Given the description of an element on the screen output the (x, y) to click on. 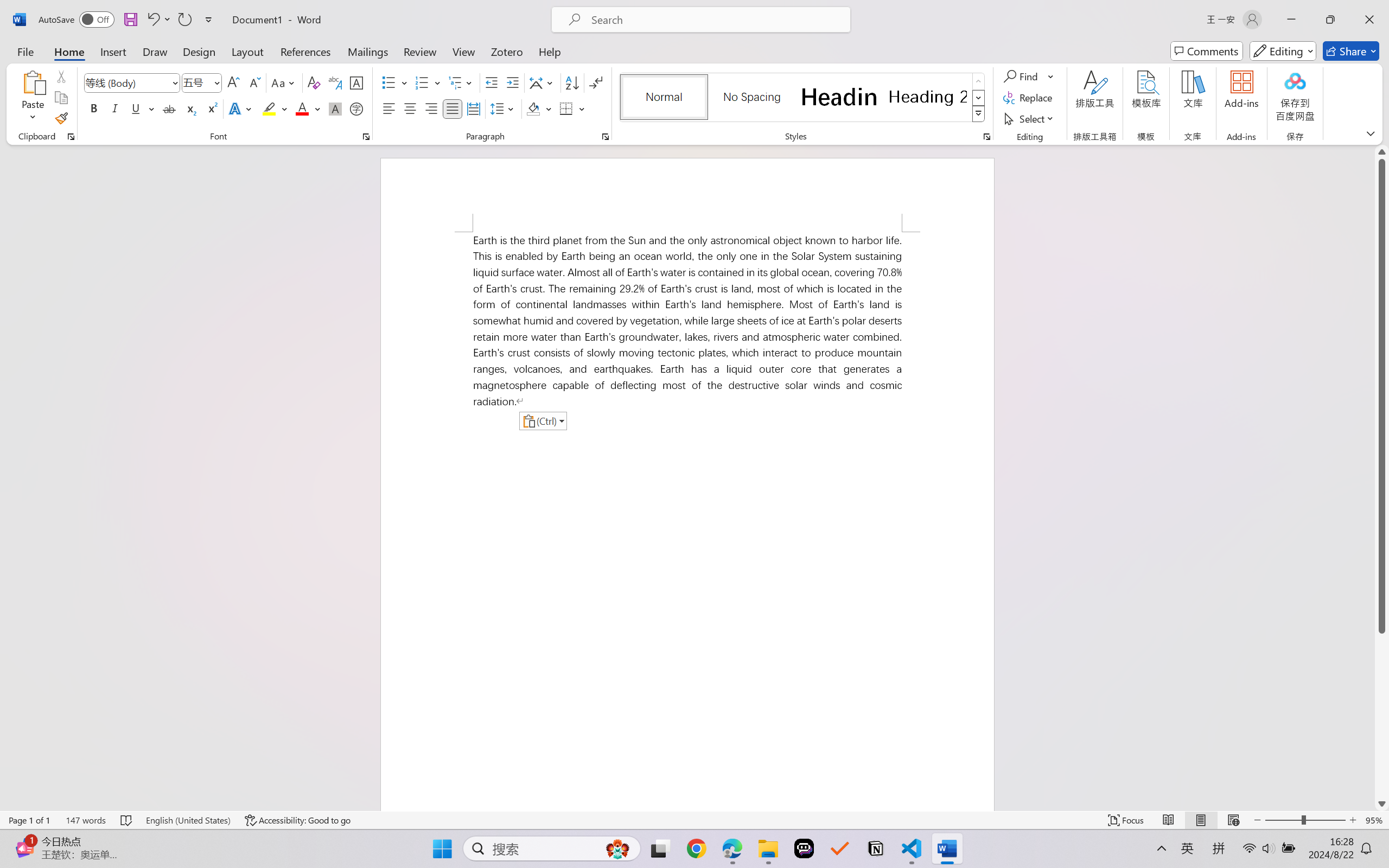
Copy (60, 97)
Text Effects and Typography (241, 108)
Office Clipboard... (70, 136)
Shrink Font (253, 82)
